Given the description of an element on the screen output the (x, y) to click on. 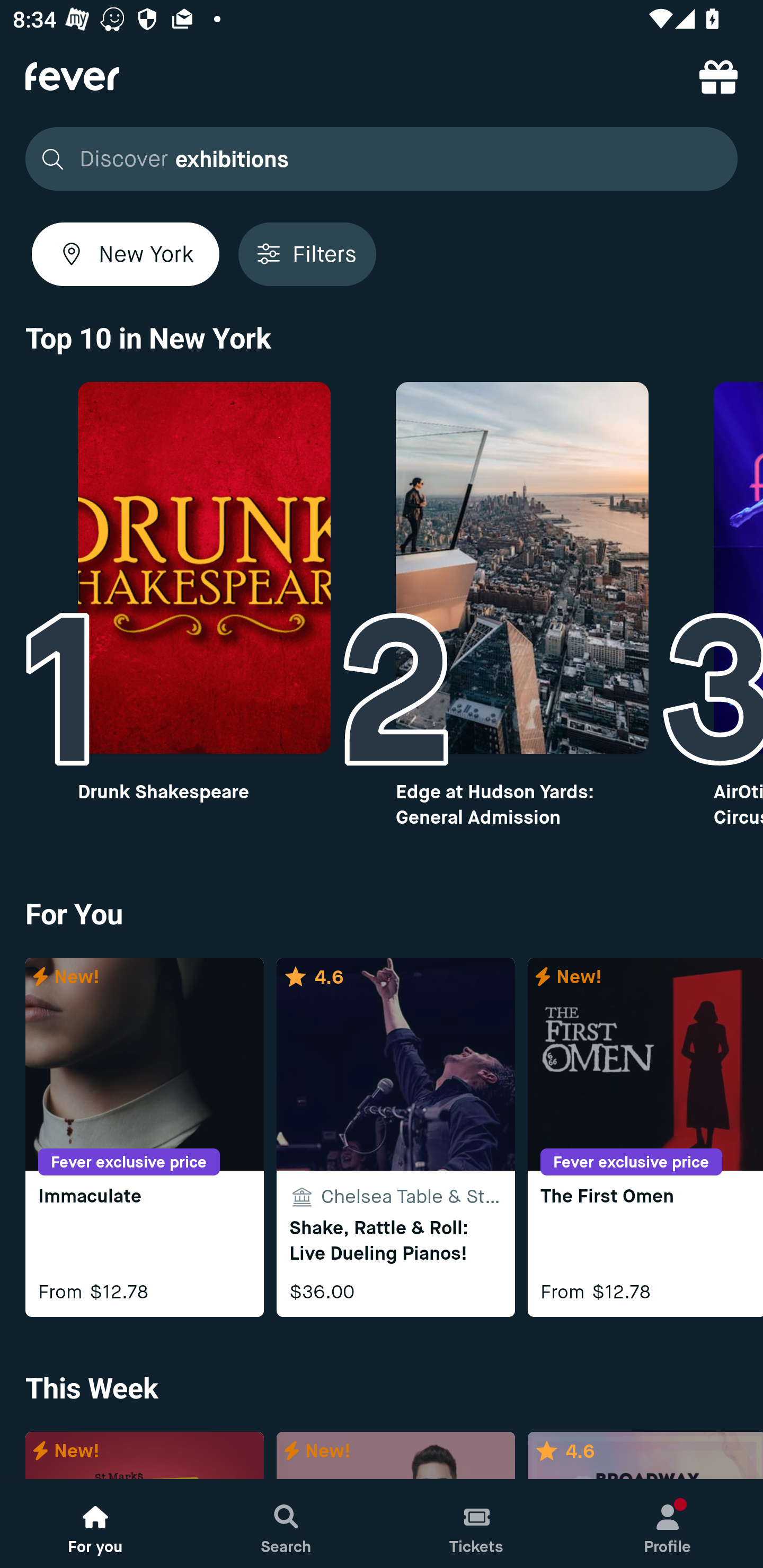
referral (718, 75)
Discover candlelight exhibitions (381, 158)
Discover candlelight exhibitions (376, 158)
New York (125, 253)
Filters (307, 253)
Top10 image (203, 568)
Top10 image (521, 568)
Search (285, 1523)
Tickets (476, 1523)
Profile, New notification Profile (667, 1523)
